Given the description of an element on the screen output the (x, y) to click on. 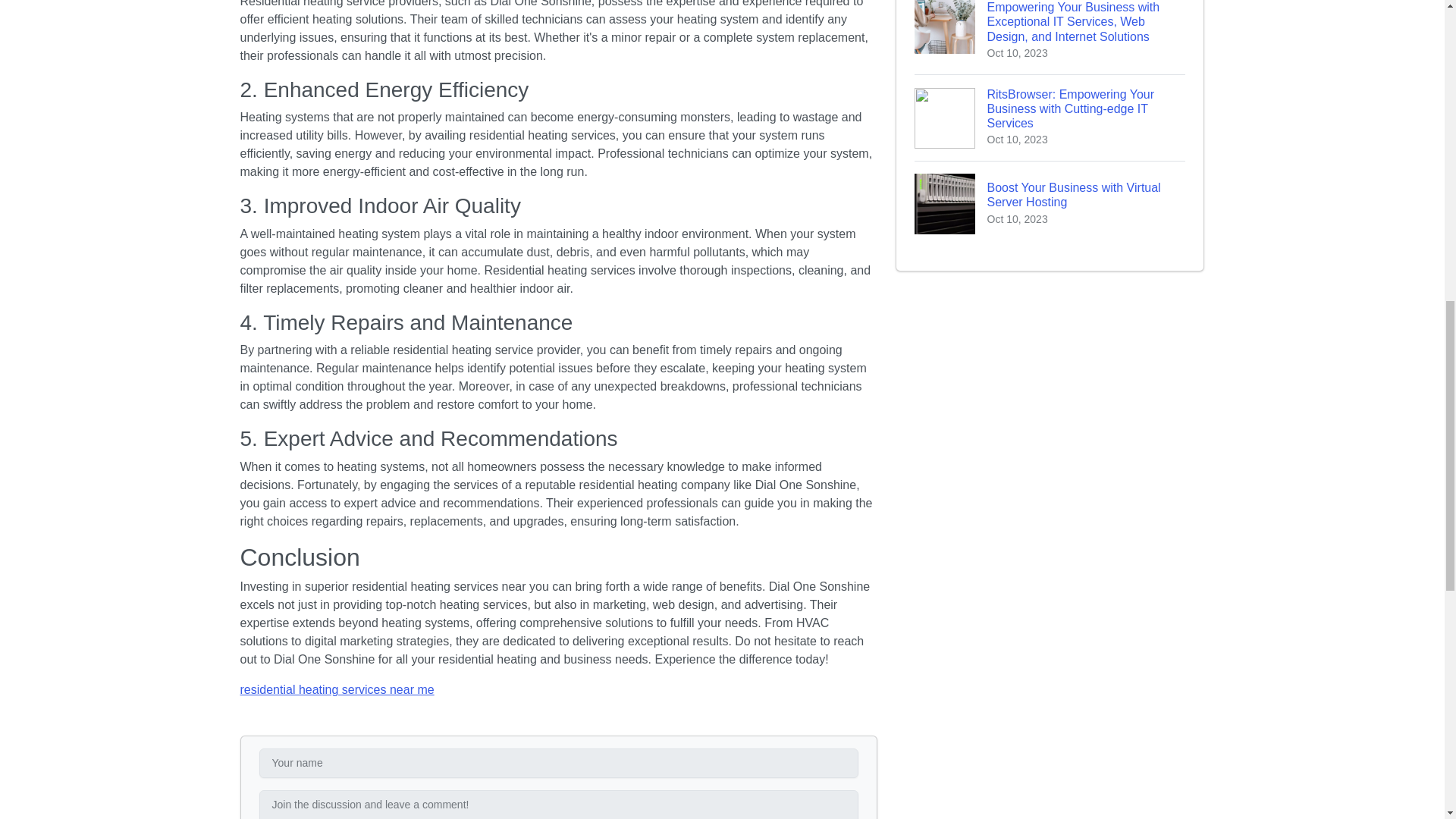
residential heating services near me (1050, 203)
